Given the description of an element on the screen output the (x, y) to click on. 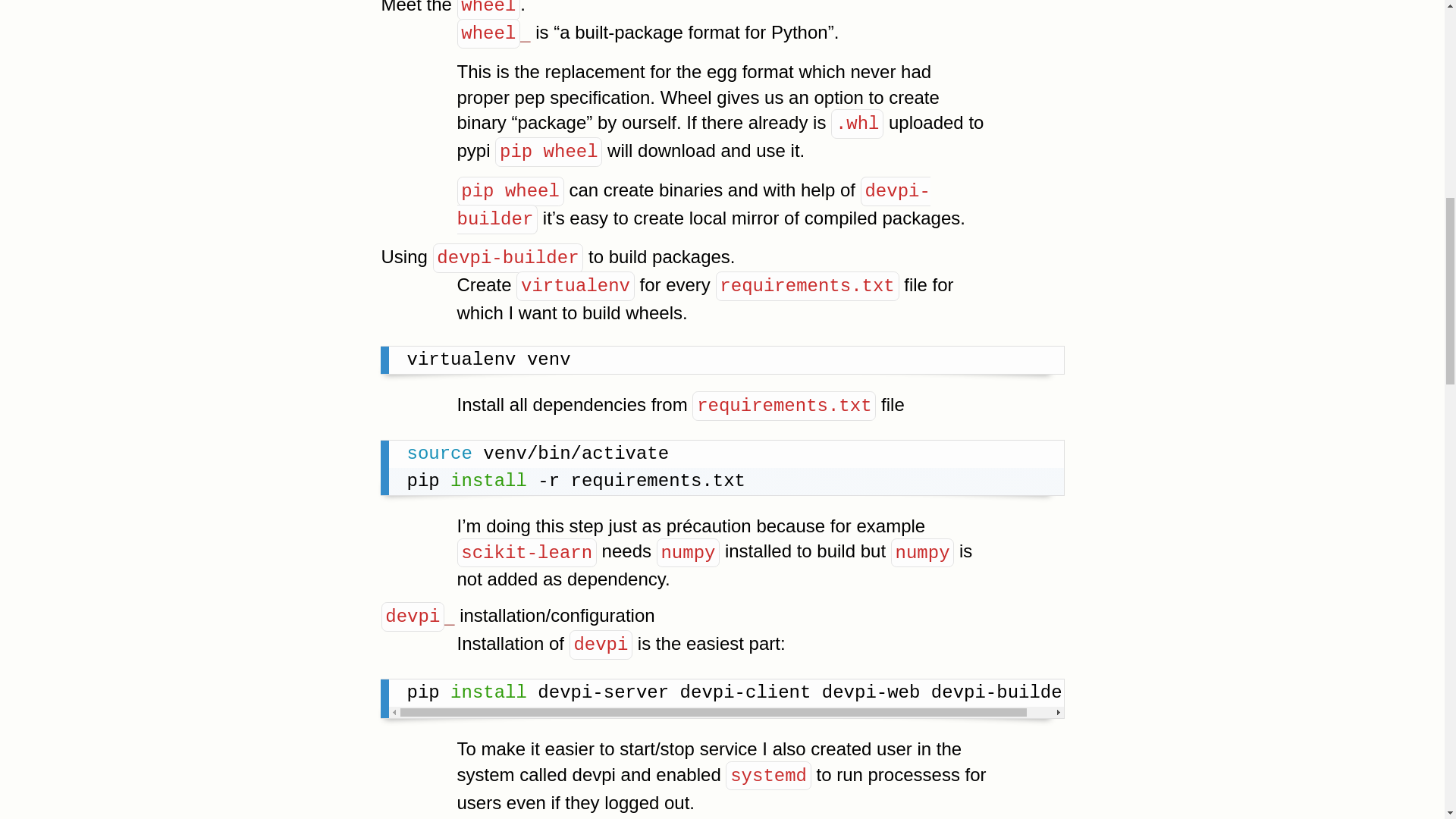
wheel (493, 32)
devpi (417, 615)
